Given the description of an element on the screen output the (x, y) to click on. 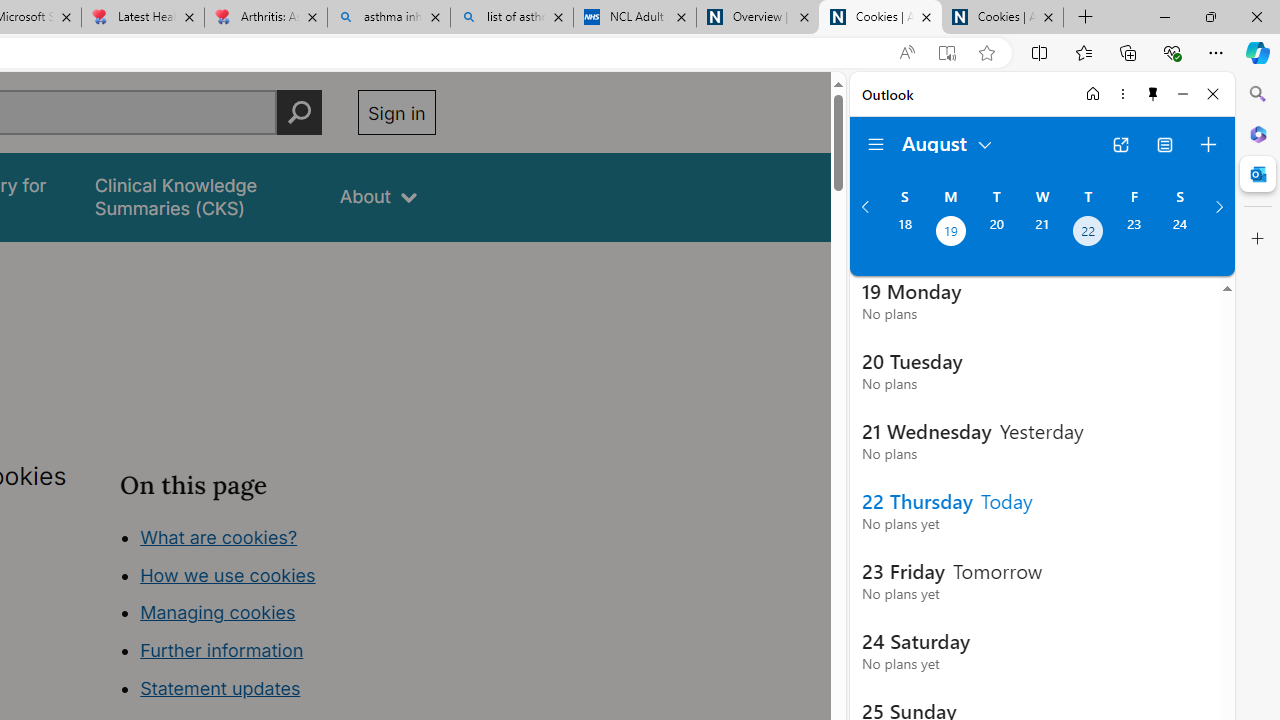
Friday, August 23, 2024.  (1134, 233)
Wednesday, August 21, 2024.  (1042, 233)
Monday, August 19, 2024. Date selected.  (950, 233)
Saturday, August 24, 2024.  (1180, 233)
asthma inhaler - Search (388, 17)
Open in new tab (1120, 144)
Perform search (299, 112)
